Given the description of an element on the screen output the (x, y) to click on. 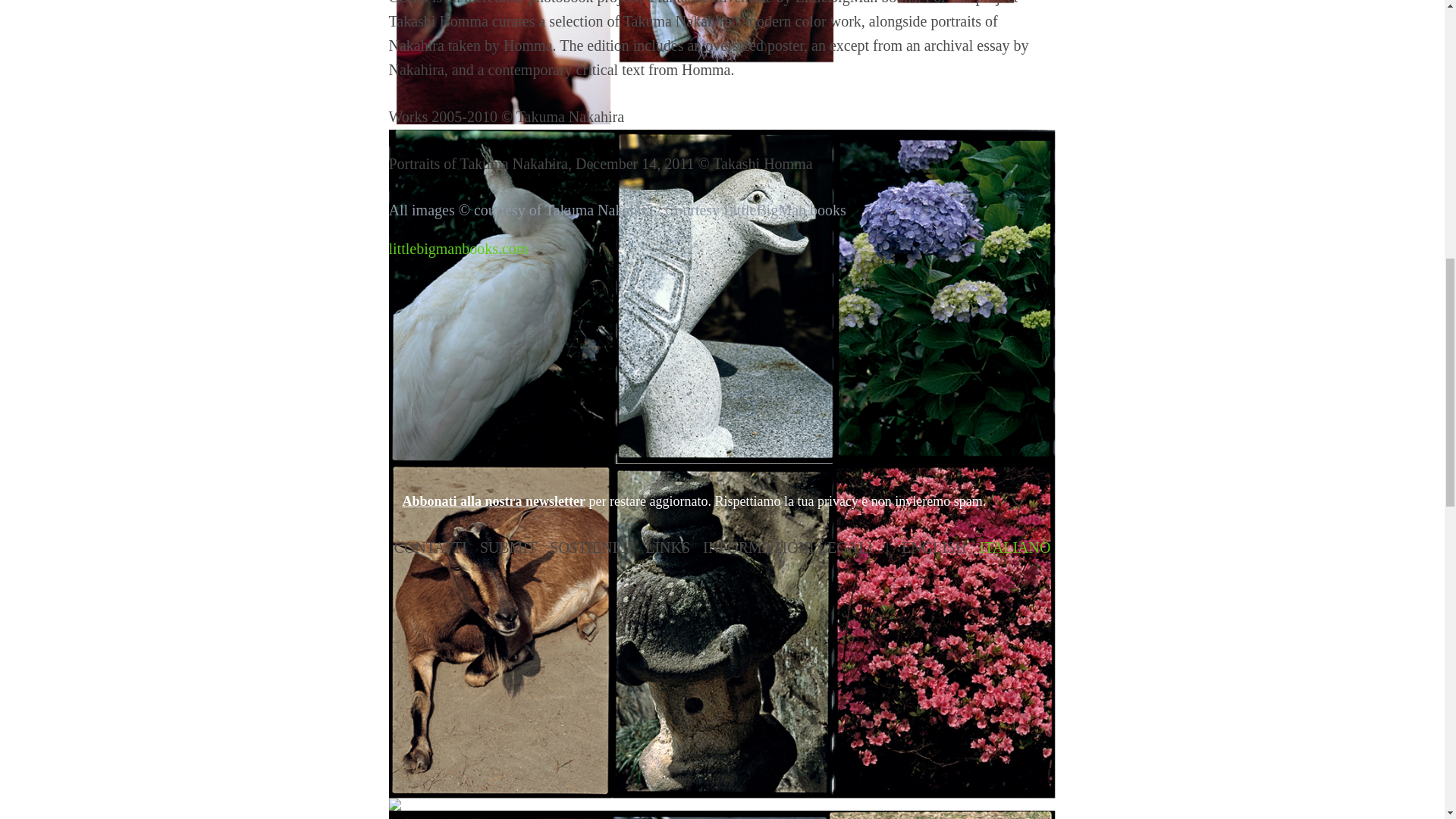
SOSTIENICI (590, 547)
SUBMIT (508, 547)
CONTATTI (430, 547)
Abbonati alla nostra newsletter (493, 500)
LINKS (667, 547)
Precedente (440, 351)
littlebigmanbooks.com (457, 248)
